Given the description of an element on the screen output the (x, y) to click on. 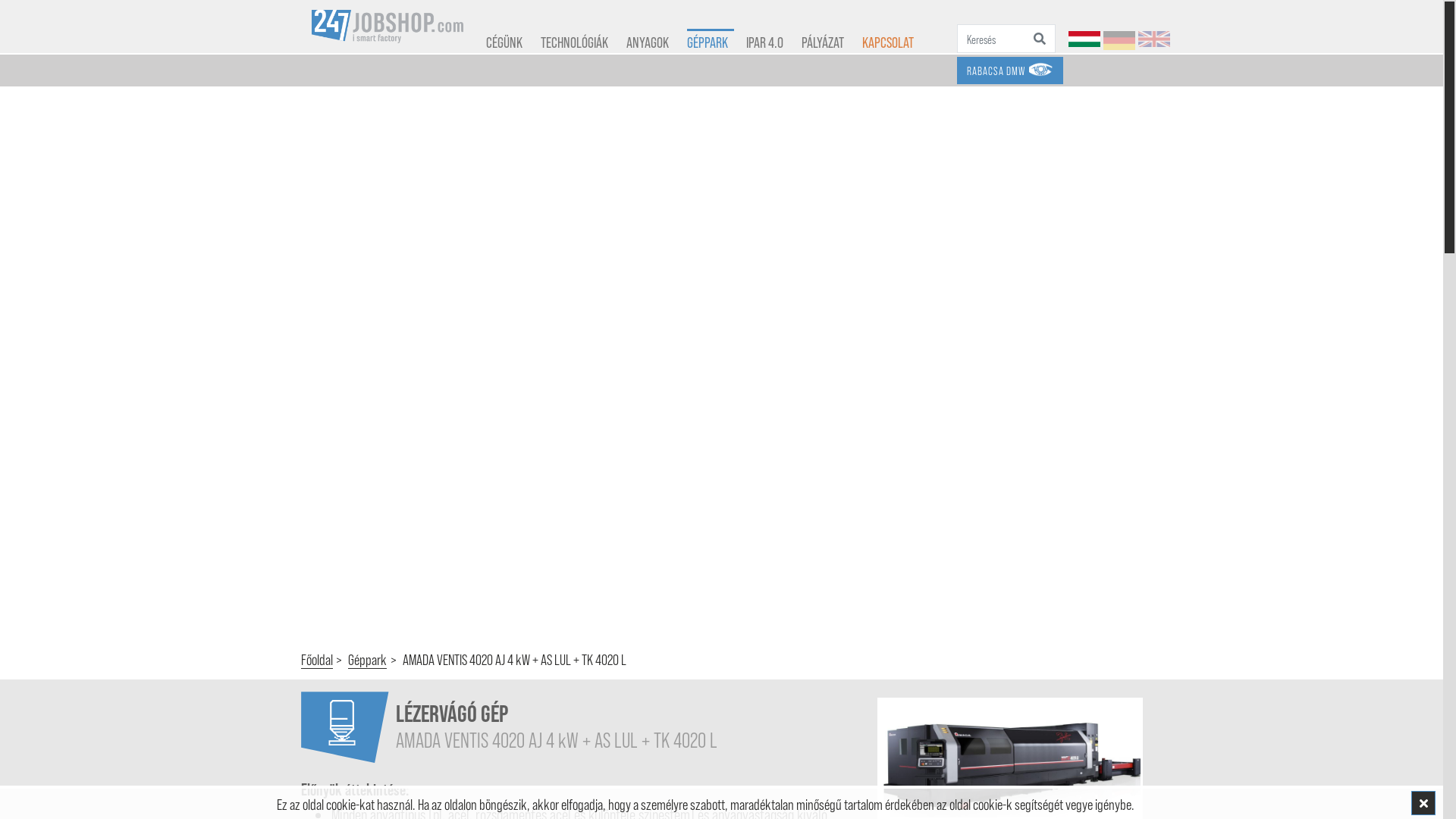
KAPCSOLAT Element type: text (896, 26)
ANYAGOK Element type: text (656, 26)
RABACSA DMW Element type: text (1010, 70)
IPAR 4.0 Element type: text (773, 26)
